Given the description of an element on the screen output the (x, y) to click on. 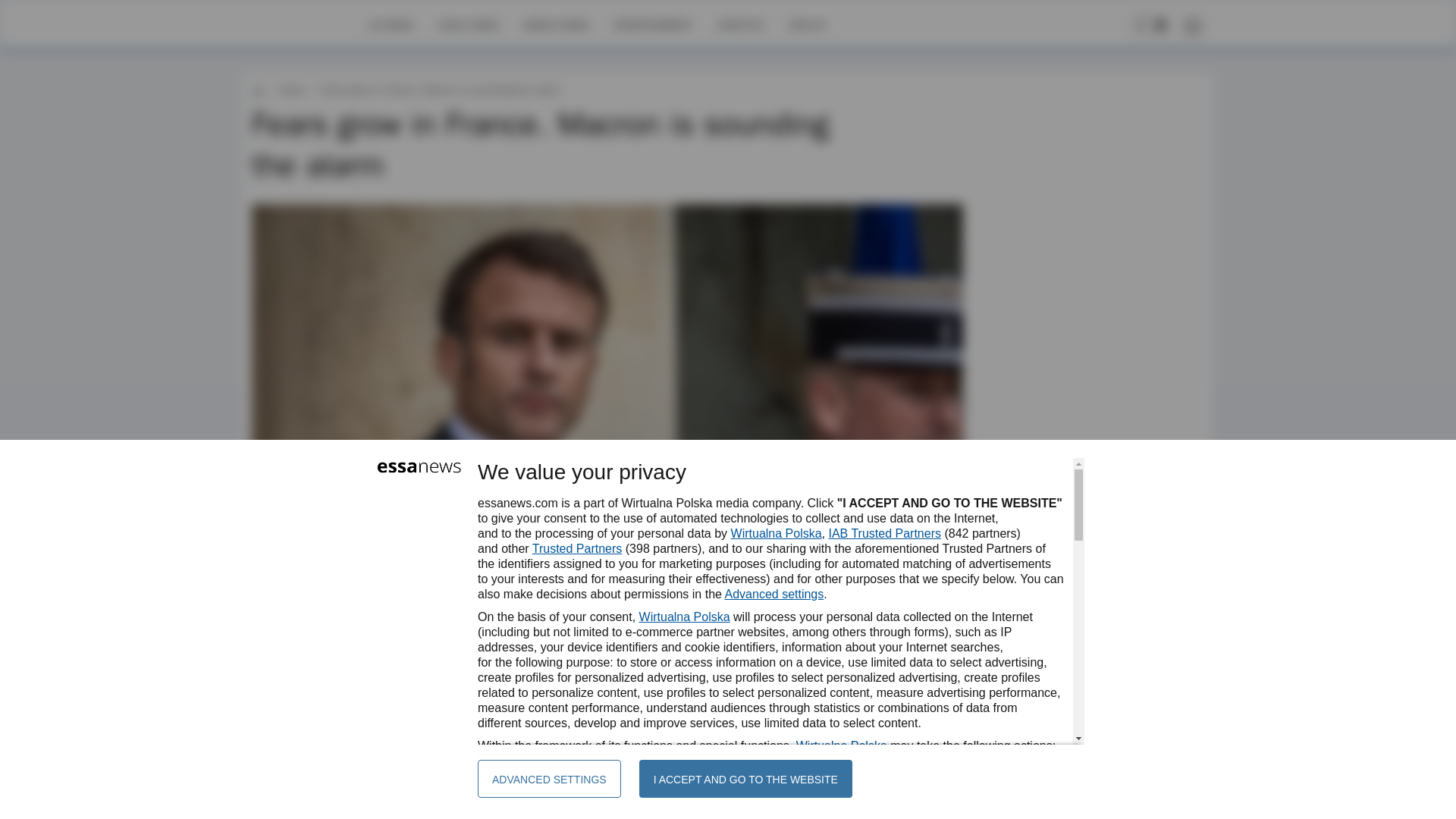
Homepage (305, 24)
RAM (320, 641)
LOCAL NEWS (468, 24)
News (291, 89)
SHARE (936, 649)
LIFESTYLE (740, 24)
WORLD NEWS (555, 24)
essanews.com (257, 89)
ENTERTAINMENT (652, 24)
News (291, 89)
RAM (320, 641)
HEALTH (807, 24)
US NEWS (390, 24)
